Given the description of an element on the screen output the (x, y) to click on. 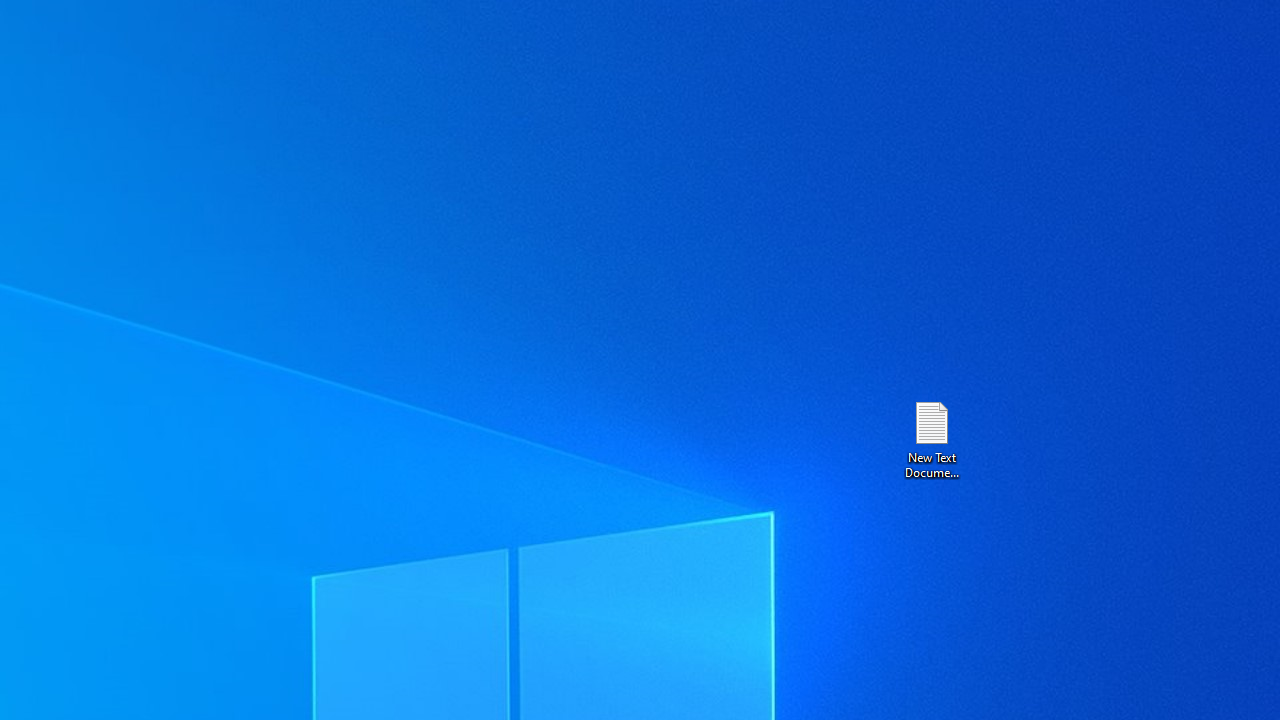
New Text Document (2) (931, 438)
